Given the description of an element on the screen output the (x, y) to click on. 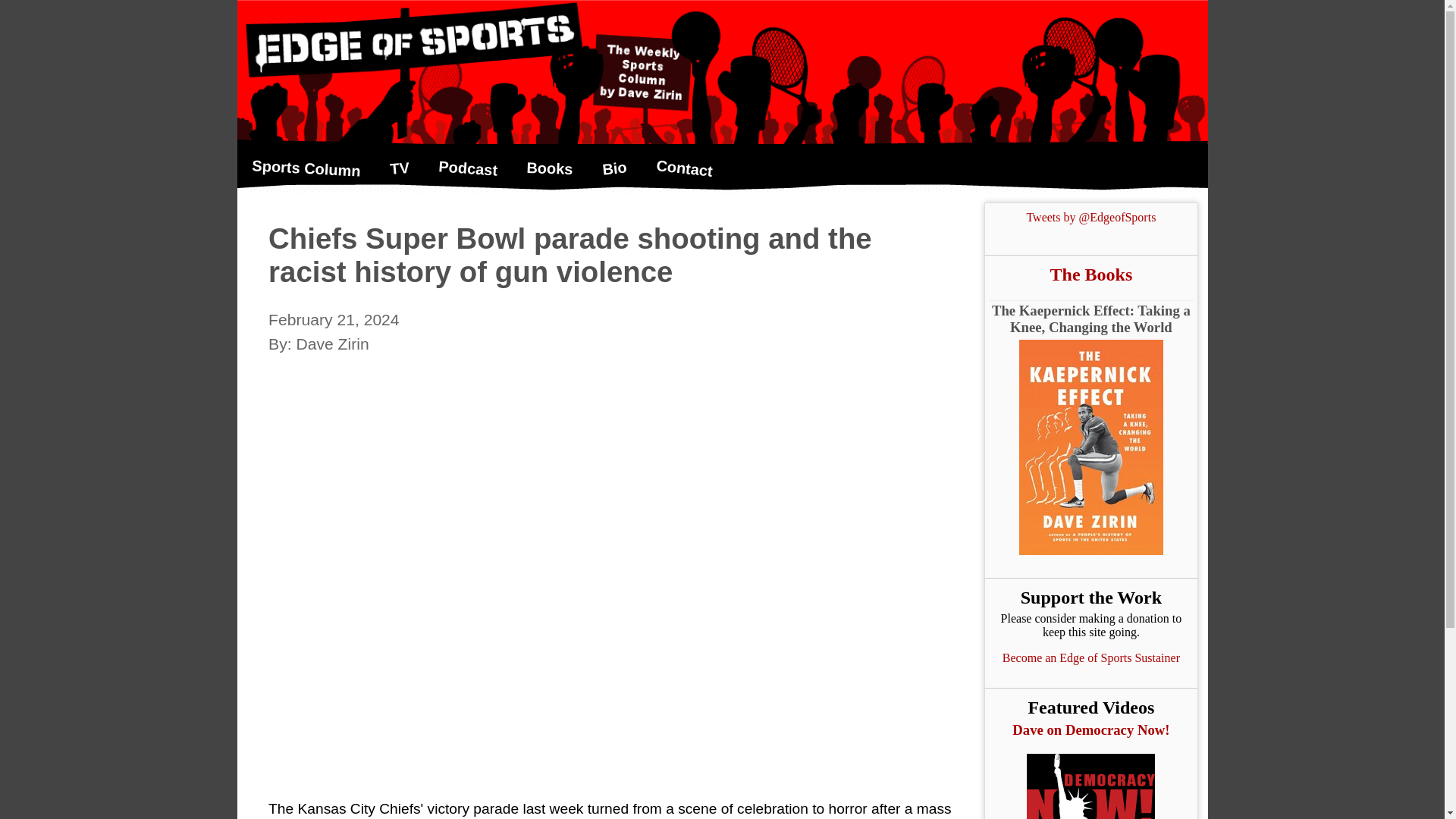
Podcast (467, 165)
Become an Edge of Sports Sustainer (1090, 658)
All Dave's Books (1090, 274)
Bio (614, 165)
Dave on Democracy Now! (1090, 729)
Books (549, 166)
Sports Column (304, 164)
The Books (1090, 274)
TV (398, 166)
